Given the description of an element on the screen output the (x, y) to click on. 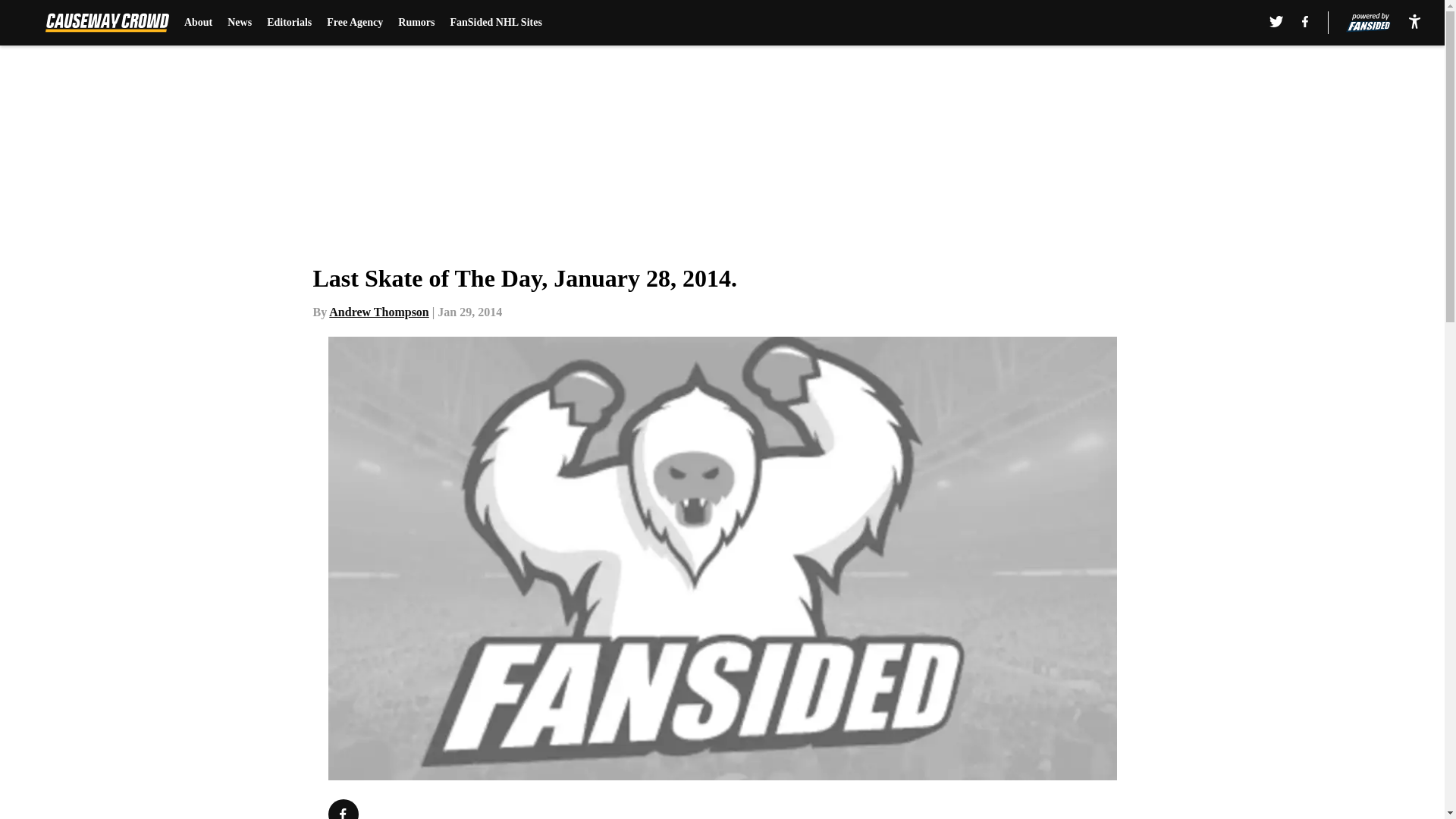
About (198, 22)
News (239, 22)
Free Agency (354, 22)
Andrew Thompson (378, 311)
Rumors (415, 22)
Editorials (288, 22)
FanSided NHL Sites (495, 22)
